Given the description of an element on the screen output the (x, y) to click on. 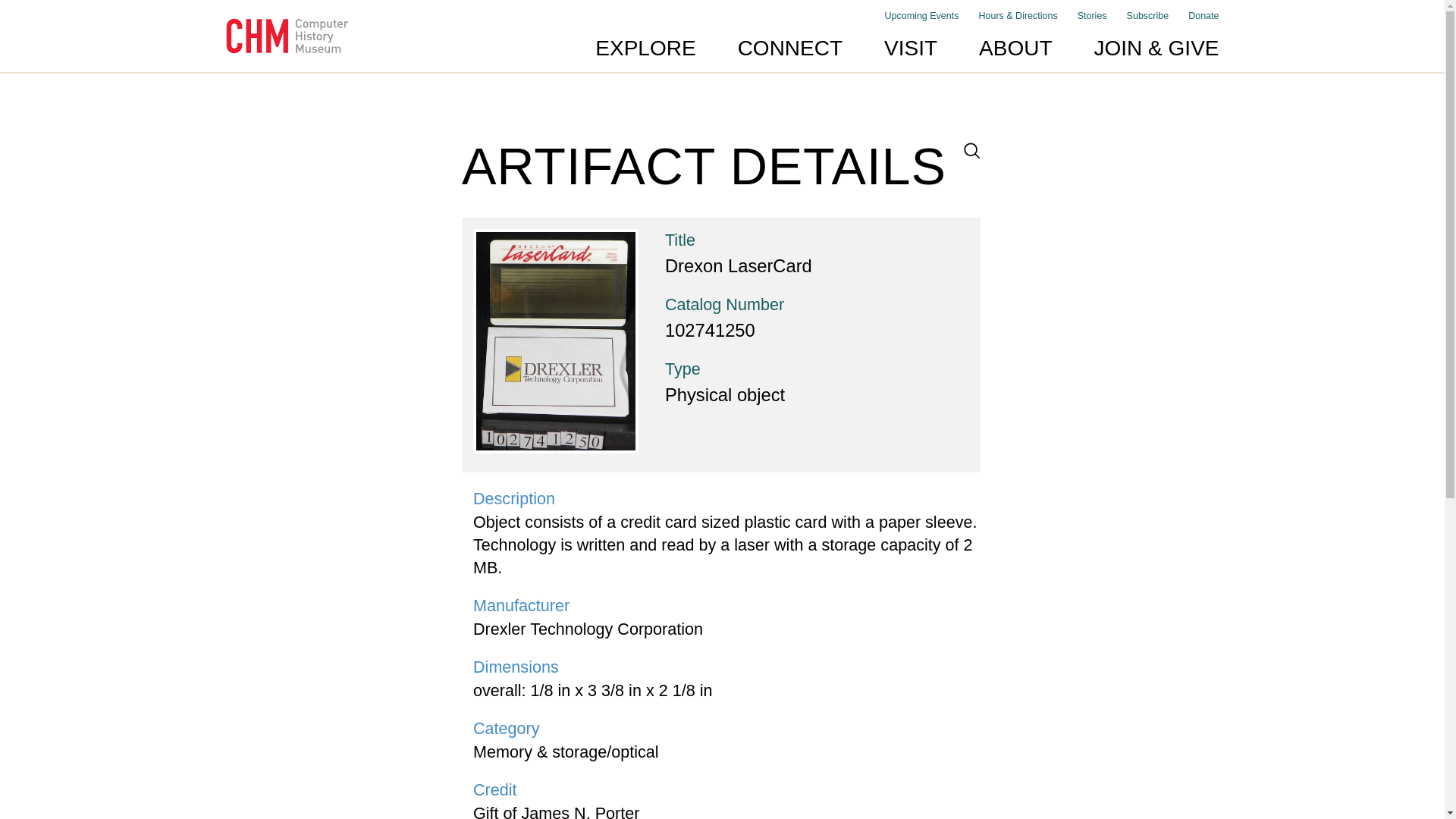
VISIT (910, 47)
ABOUT (1014, 47)
Upcoming Events (922, 15)
Stories (1091, 15)
EXPLORE (645, 47)
CONNECT (790, 47)
Subscribe (1147, 15)
